Given the description of an element on the screen output the (x, y) to click on. 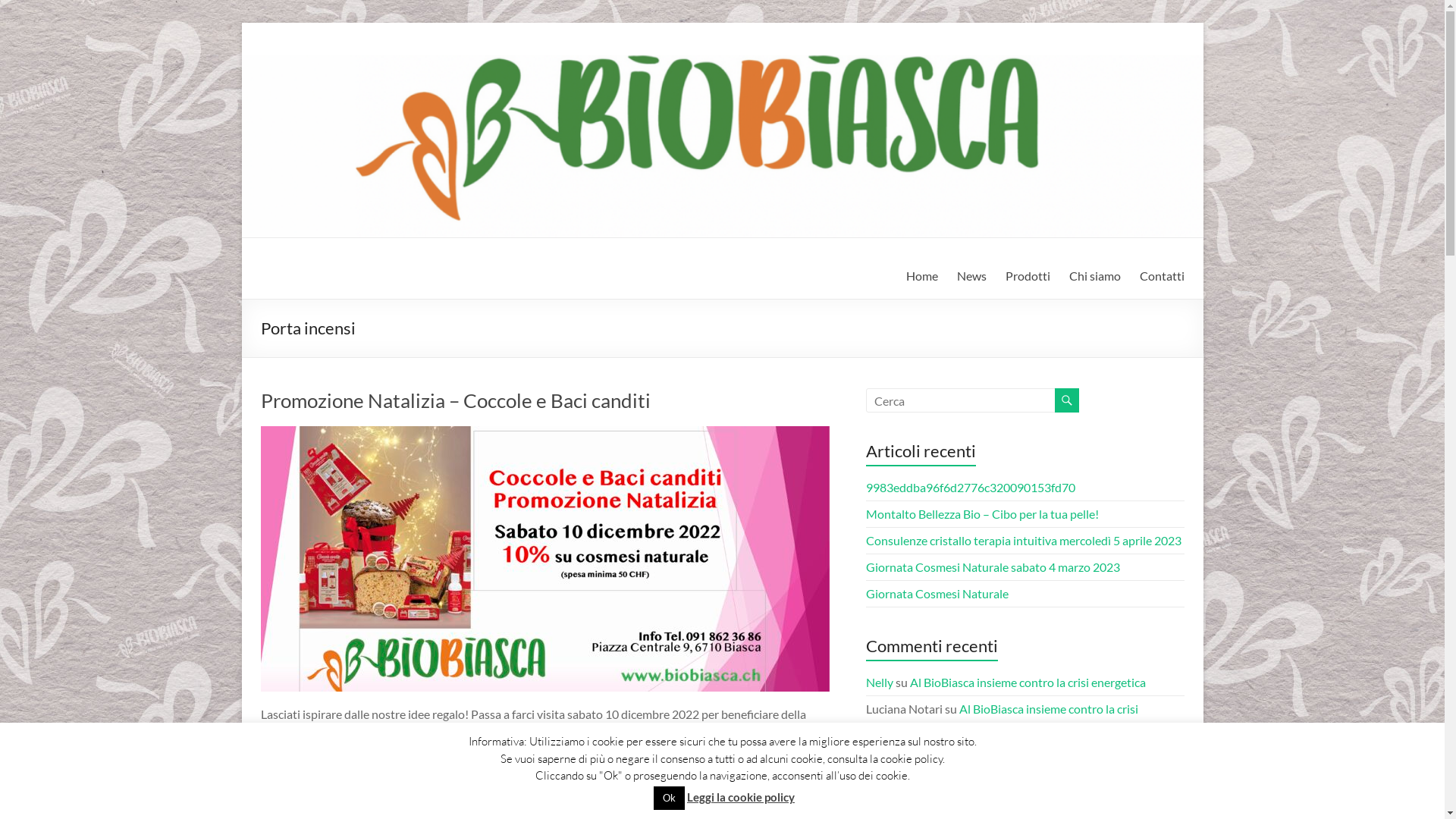
9983eddba96f6d2776c320090153fd70 Element type: text (970, 487)
Leggi la cookie policy Element type: text (740, 796)
Ok Element type: text (668, 797)
Nelly Element type: text (294, 771)
Al BioBiasca insieme contro la crisi energetica Element type: text (1002, 717)
Prodotti Element type: text (1027, 275)
Idratarsi? Un dettaglio che fa la differenza! Element type: text (1019, 753)
2 Dicembre 2022 Element type: text (377, 771)
Negozio Element type: text (704, 794)
Idratarsi? Un dettaglio che fa la differenza! Element type: text (1067, 779)
Contatti Element type: text (1161, 275)
Al BioBiasca insieme contro la crisi energetica Element type: text (1027, 681)
Incensi e resine Element type: text (645, 794)
Giornata Cosmesi Naturale Element type: text (937, 593)
Nelly Element type: text (879, 681)
Cura corpo Element type: text (493, 794)
Nelly Element type: text (879, 753)
Chi siamo Element type: text (1094, 275)
Home Element type: text (921, 275)
Giornata Cosmesi Naturale sabato 4 marzo 2023 Element type: text (993, 566)
Eventi Element type: text (589, 794)
Cura viso Element type: text (548, 794)
Cosmetica naturale Element type: text (417, 794)
Capelli Element type: text (350, 794)
News Element type: text (971, 275)
Pietre e cristalloterapia Element type: text (516, 802)
Ambiente Element type: text (305, 794)
Porta incensi Element type: text (376, 809)
Tinte capelli Element type: text (441, 809)
